Given the description of an element on the screen output the (x, y) to click on. 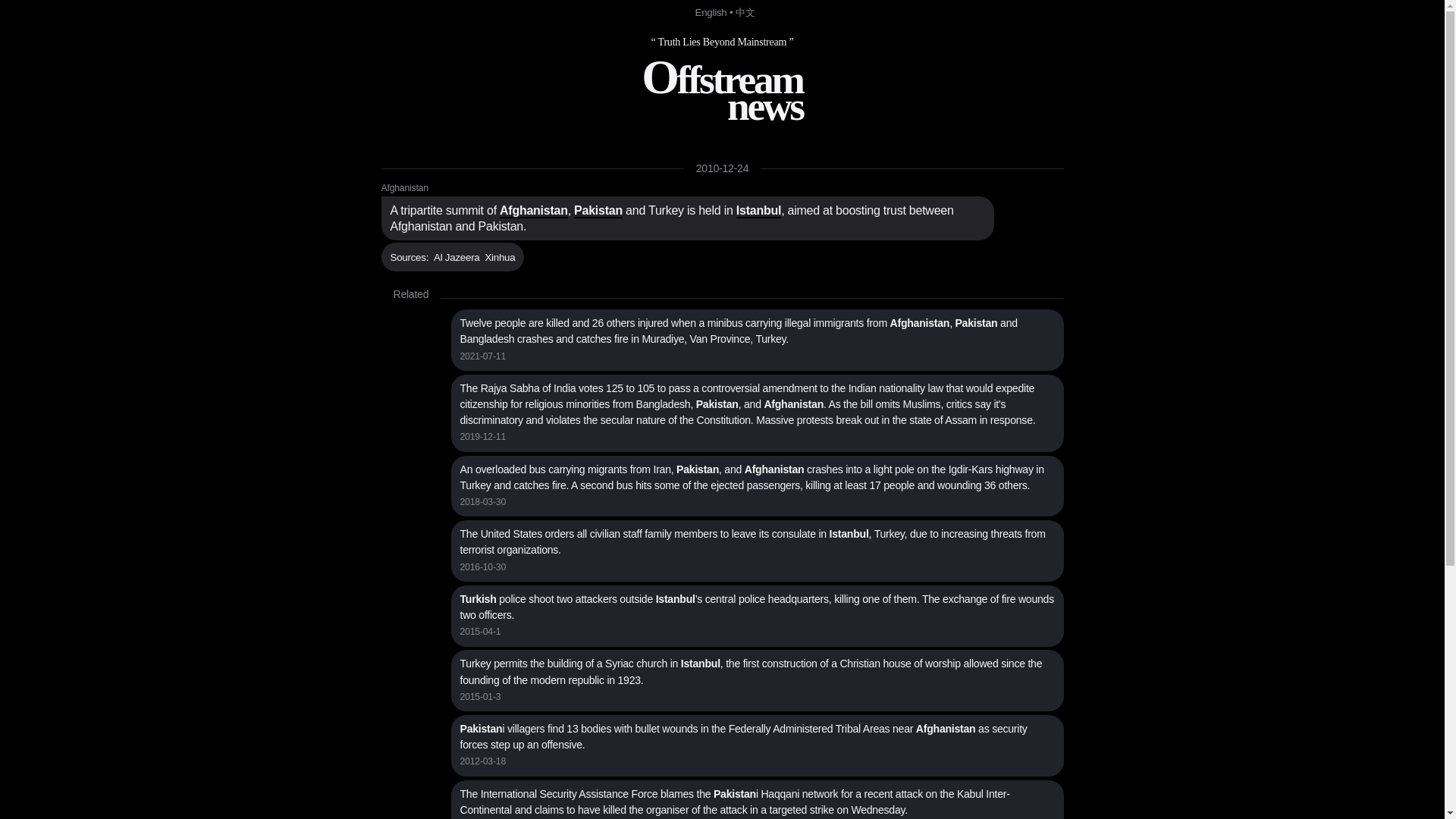
Afghanistan (533, 210)
2010-12-24 (722, 169)
Al Jazeera (722, 91)
English (456, 257)
Afghanistan (710, 12)
Istanbul (404, 188)
